Given the description of an element on the screen output the (x, y) to click on. 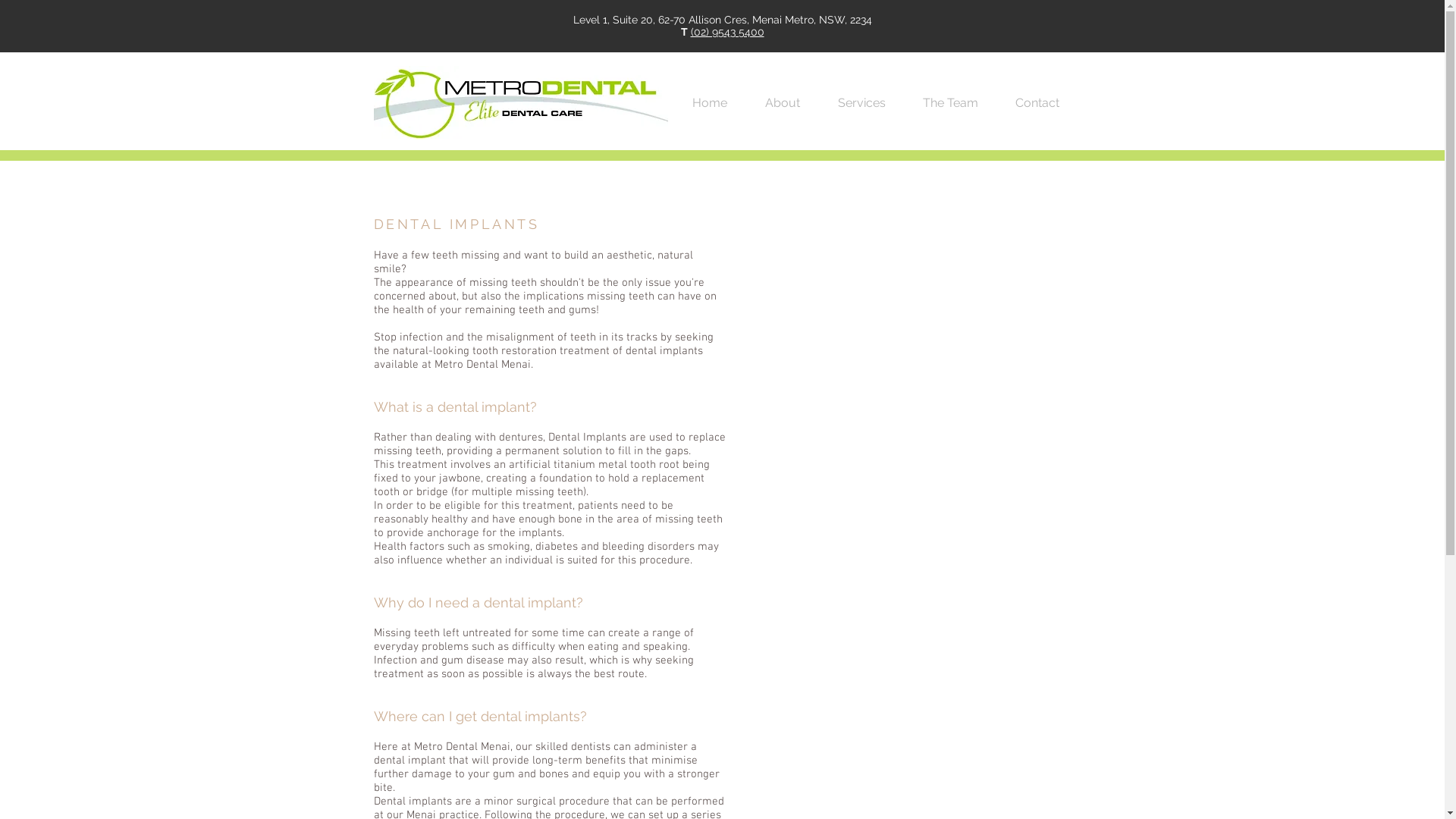
The Team Element type: text (960, 102)
Services Element type: text (871, 102)
Contact Element type: text (1047, 102)
(02) 9543 5400 Element type: text (726, 31)
About Element type: text (792, 102)
Home Element type: text (720, 102)
